Given the description of an element on the screen output the (x, y) to click on. 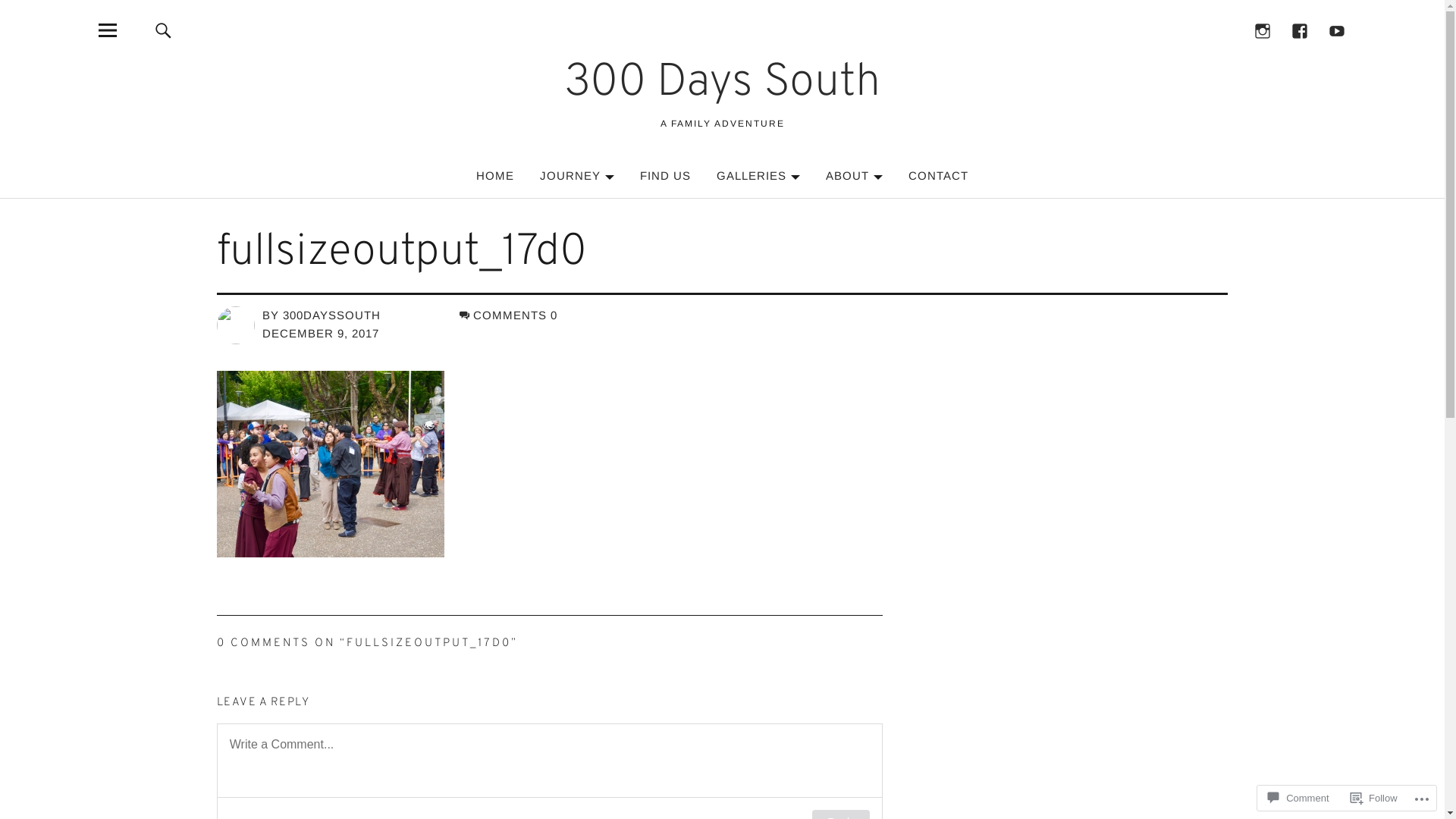
Comment Element type: text (1297, 797)
JOURNEY Element type: text (576, 175)
CONTACT Element type: text (938, 175)
300 Days South Element type: text (722, 83)
COMMENTS 0 Element type: text (508, 314)
HOME Element type: text (495, 175)
Follow Element type: text (1373, 797)
GALLERIES Element type: text (758, 175)
300DAYSSOUTH Element type: text (331, 314)
DECEMBER 9, 2017 Element type: text (320, 332)
FIND US Element type: text (665, 175)
ABOUT Element type: text (853, 175)
